Given the description of an element on the screen output the (x, y) to click on. 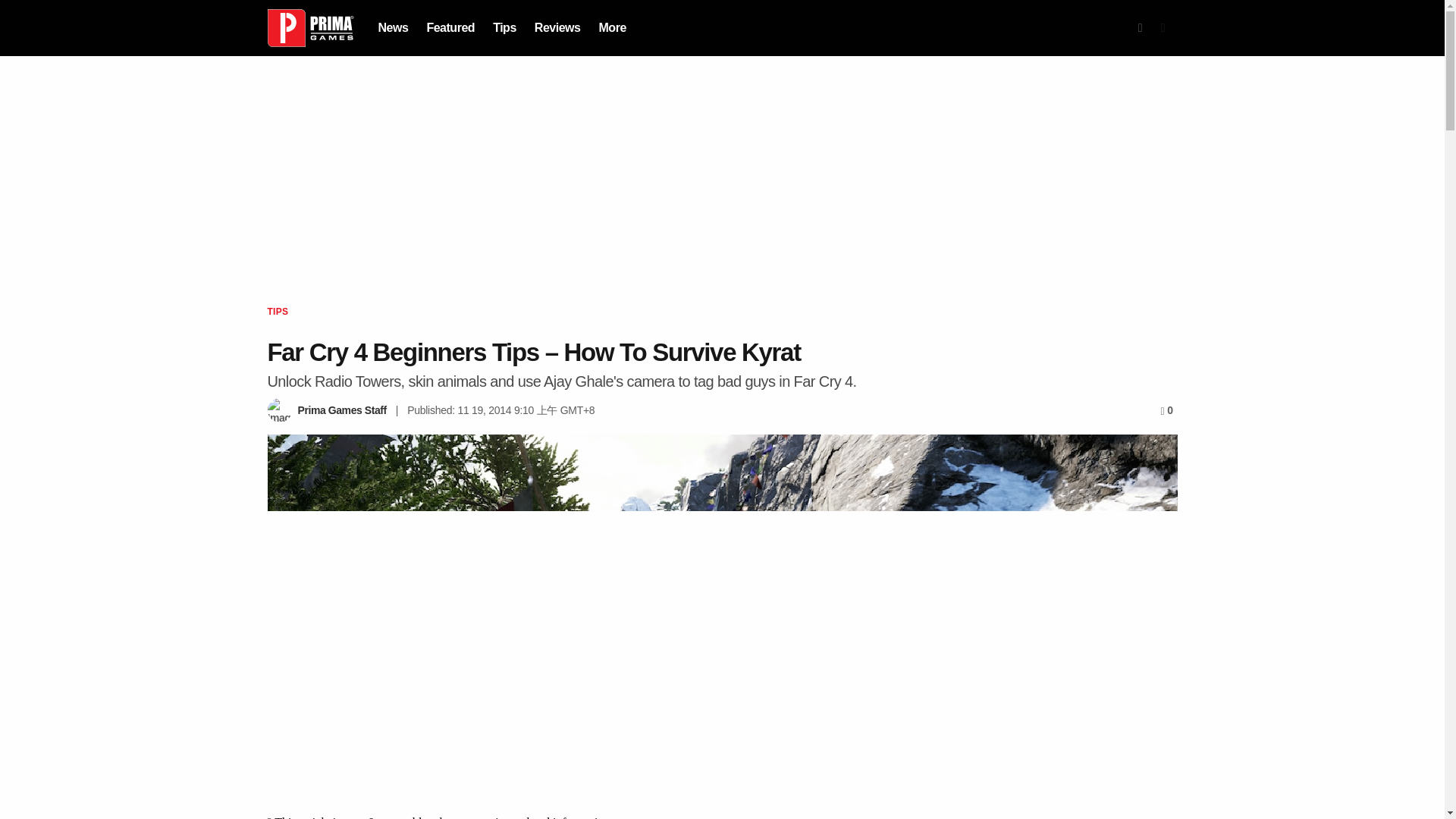
Tips (504, 27)
Reviews (557, 27)
Featured (450, 27)
News (392, 27)
